Given the description of an element on the screen output the (x, y) to click on. 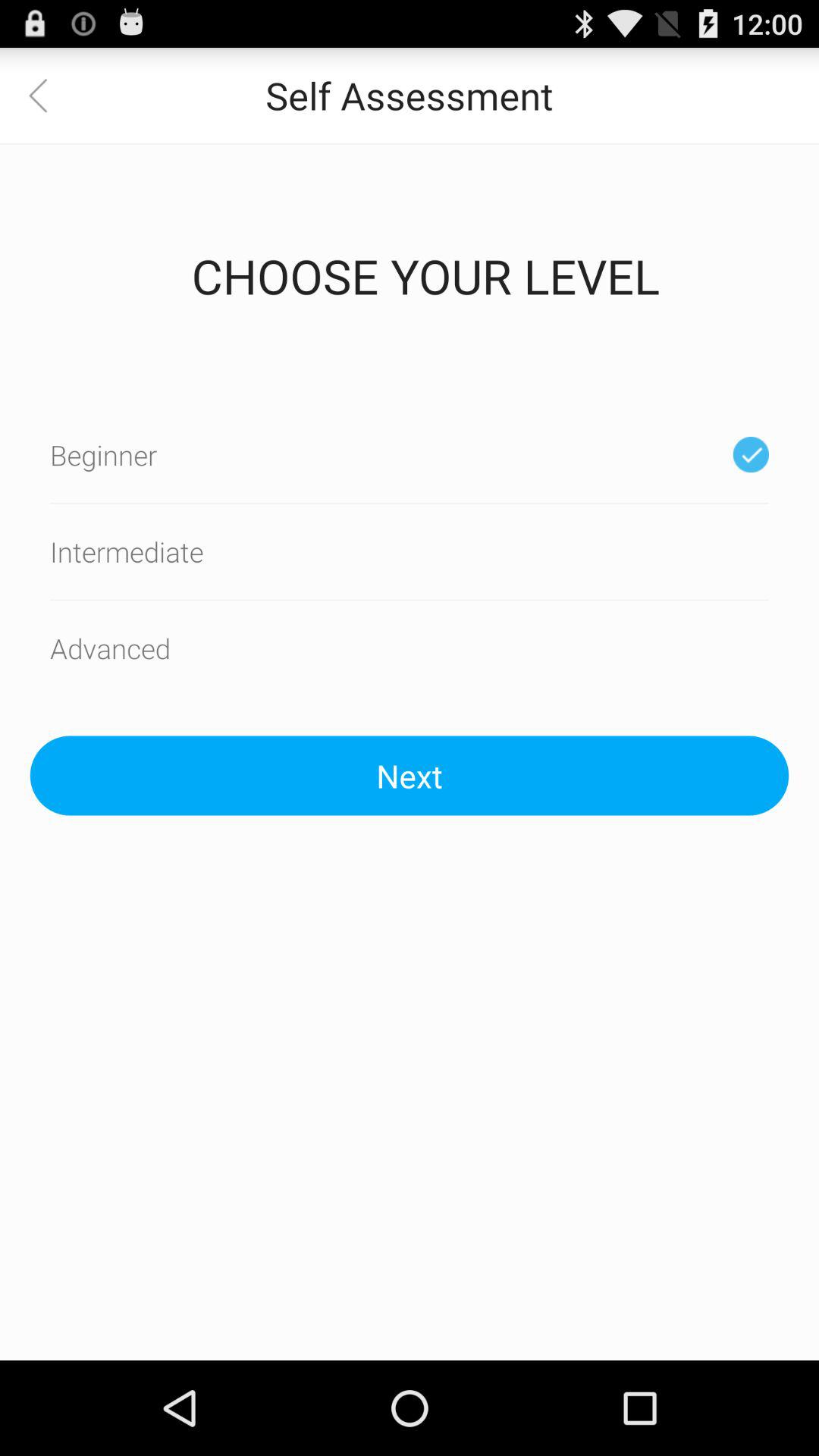
choose the item next to the self assessment item (47, 95)
